Given the description of an element on the screen output the (x, y) to click on. 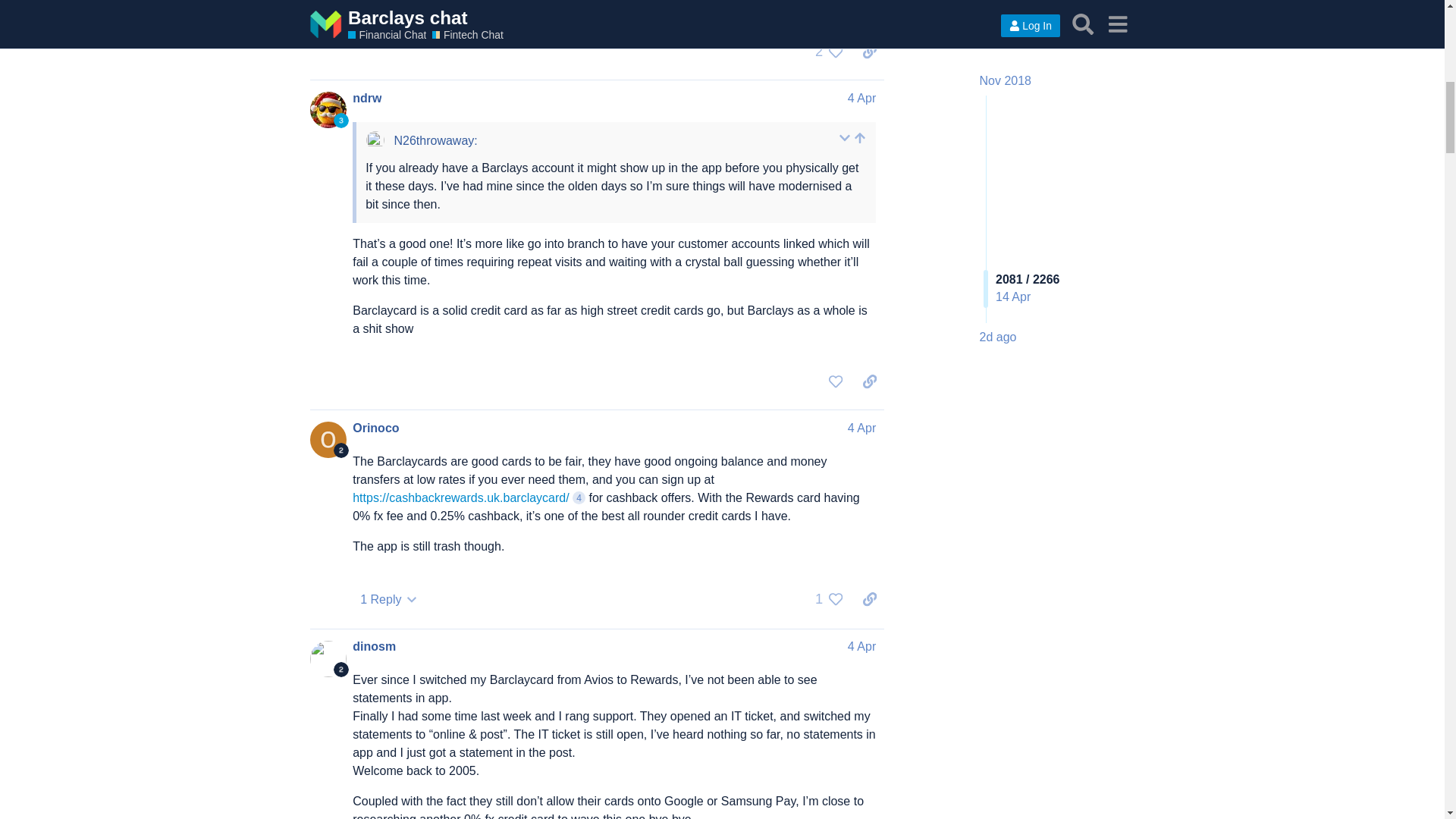
4 Apr (861, 97)
ndrw (366, 98)
